Given the description of an element on the screen output the (x, y) to click on. 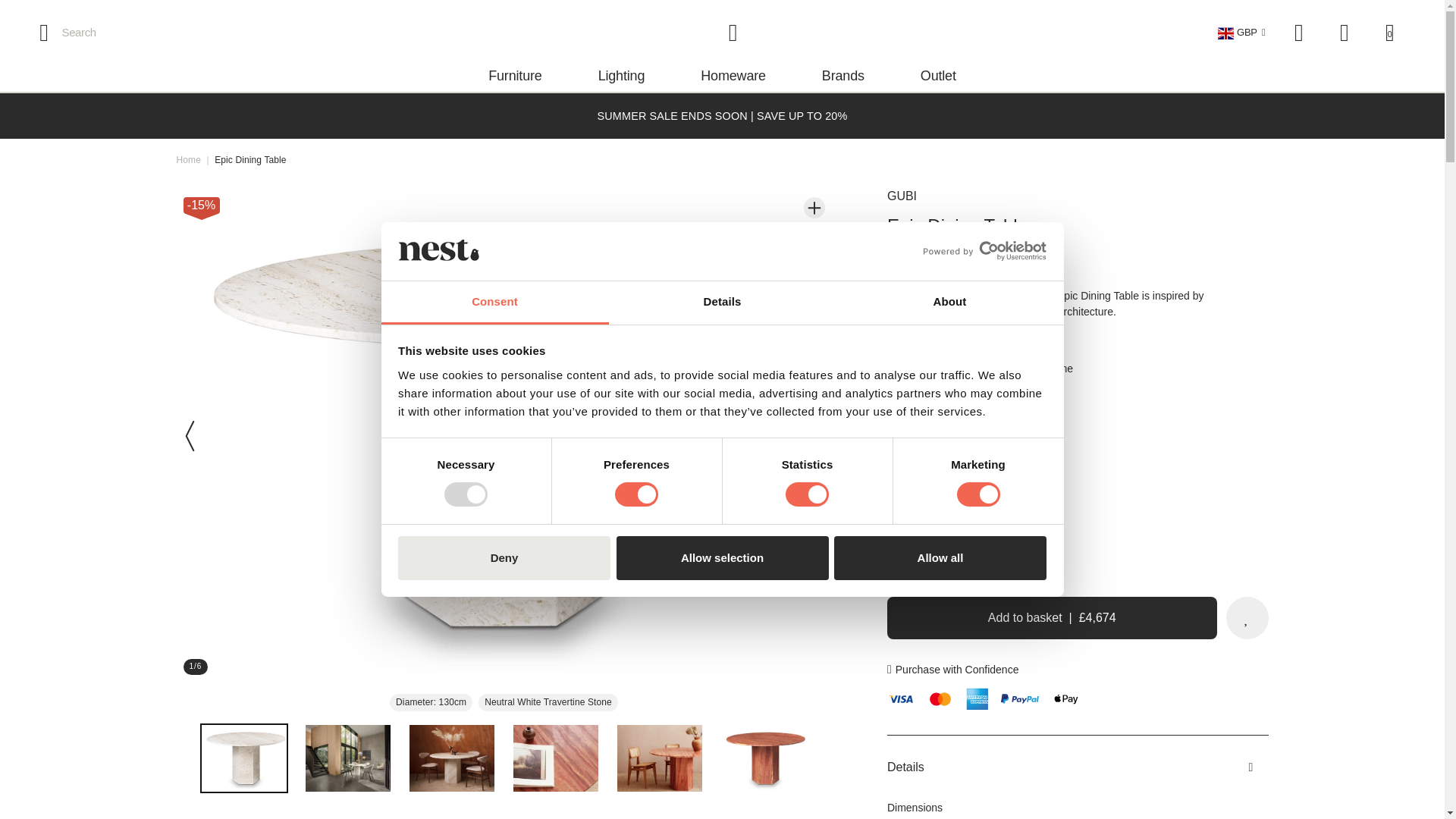
Made to order in approx. 4 weeks (984, 467)
Search (64, 32)
1 (949, 558)
